Given the description of an element on the screen output the (x, y) to click on. 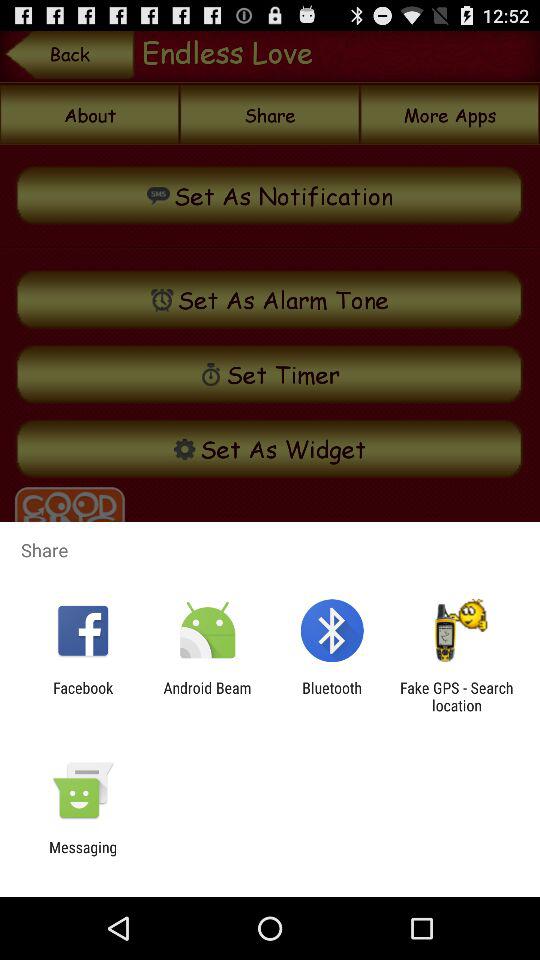
tap the item to the left of the fake gps search item (331, 696)
